Given the description of an element on the screen output the (x, y) to click on. 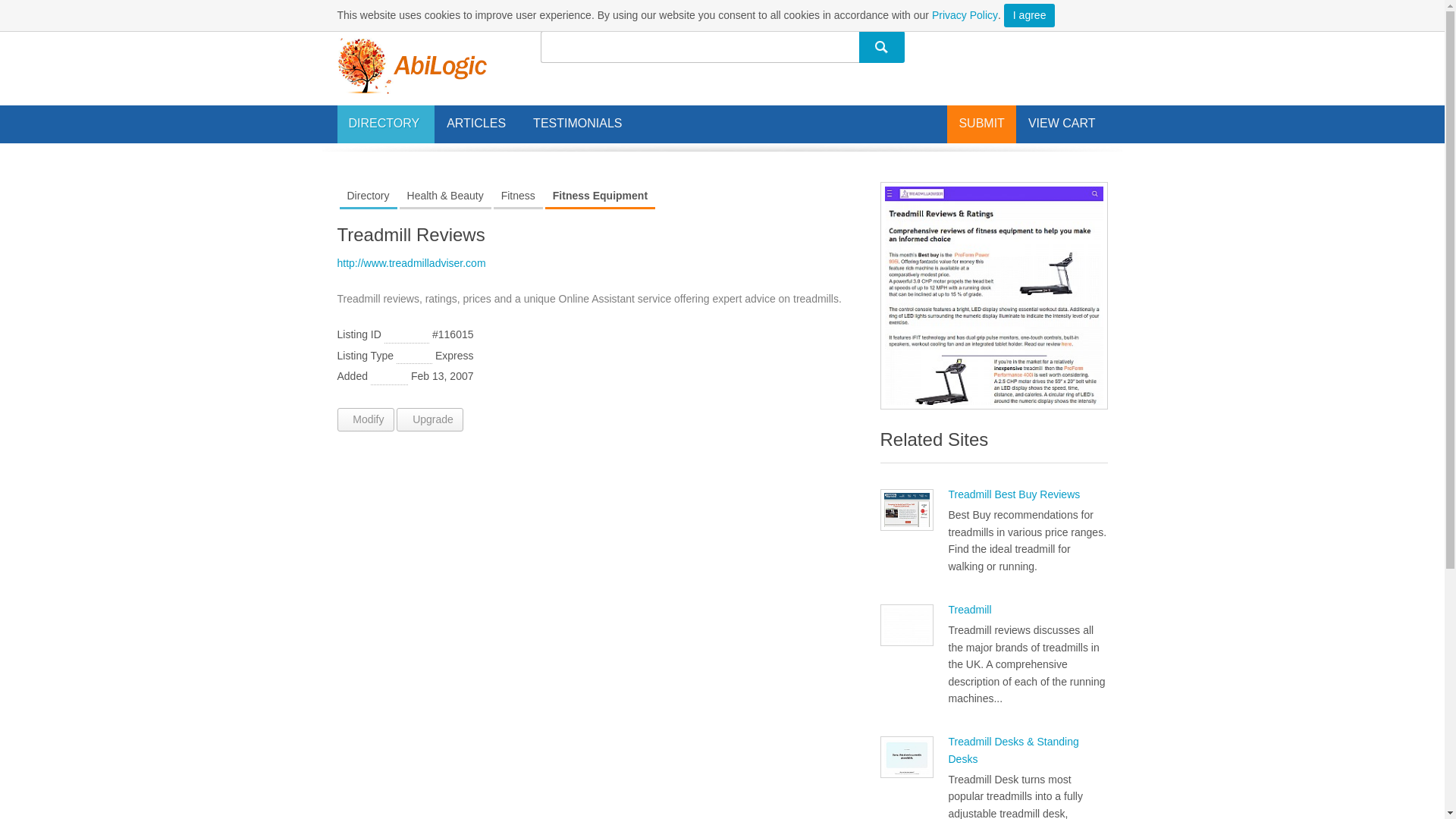
  Upgrade (429, 419)
I agree (1029, 15)
TESTIMONIALS (577, 123)
VIEW CART (1061, 123)
Privacy Policy (964, 15)
Submit a Site (980, 123)
Business Web Directory (411, 65)
DIRECTORY (384, 123)
ARTICLES (478, 123)
Treadmill Best Buy Reviews (1013, 494)
SUBMIT (980, 123)
  Modify (364, 419)
Shopping cart (1061, 123)
Directory (368, 195)
Fitness (518, 195)
